Given the description of an element on the screen output the (x, y) to click on. 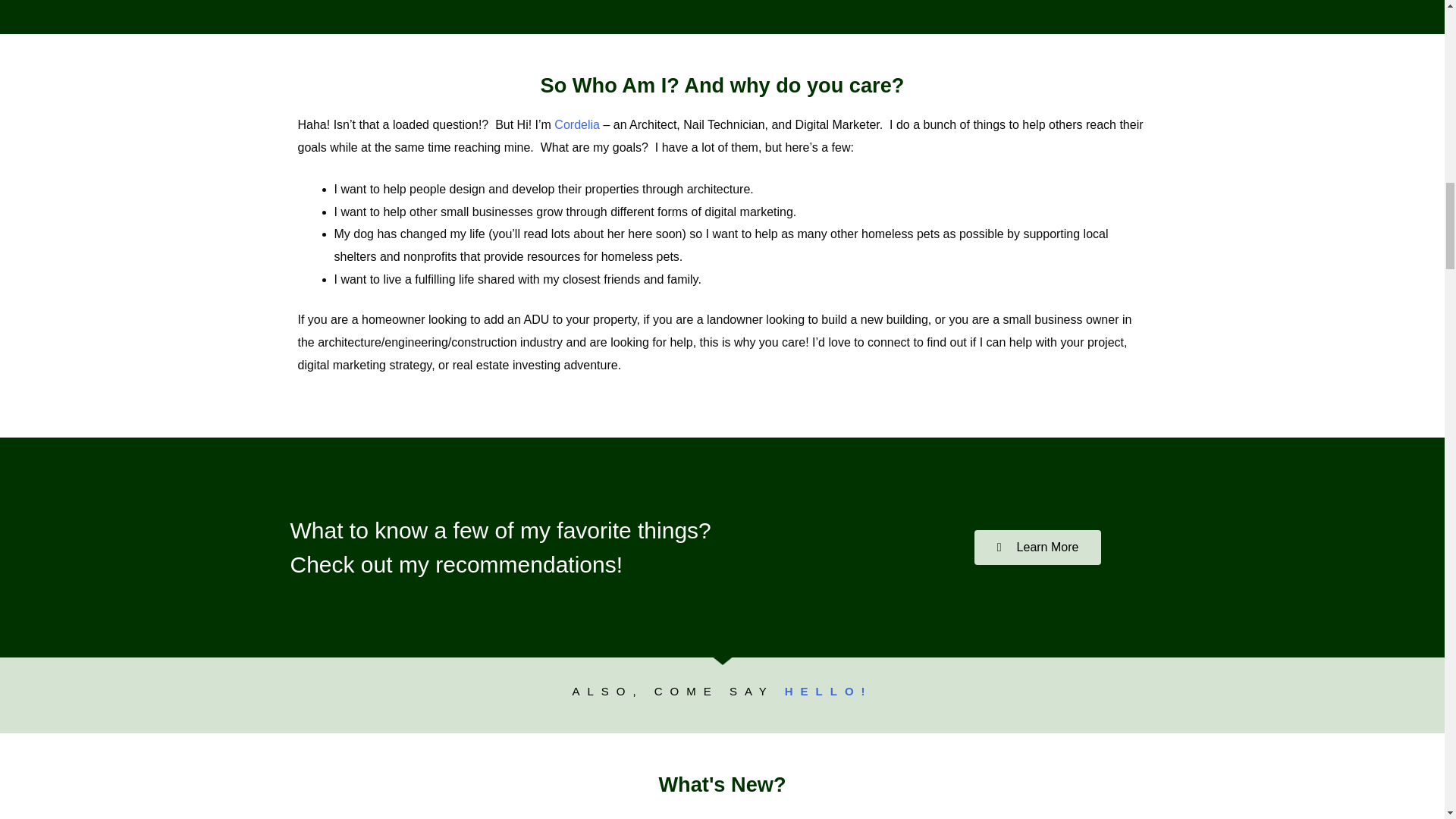
Cordelia (576, 124)
HELLO! (828, 690)
Learn More (1038, 547)
